Given the description of an element on the screen output the (x, y) to click on. 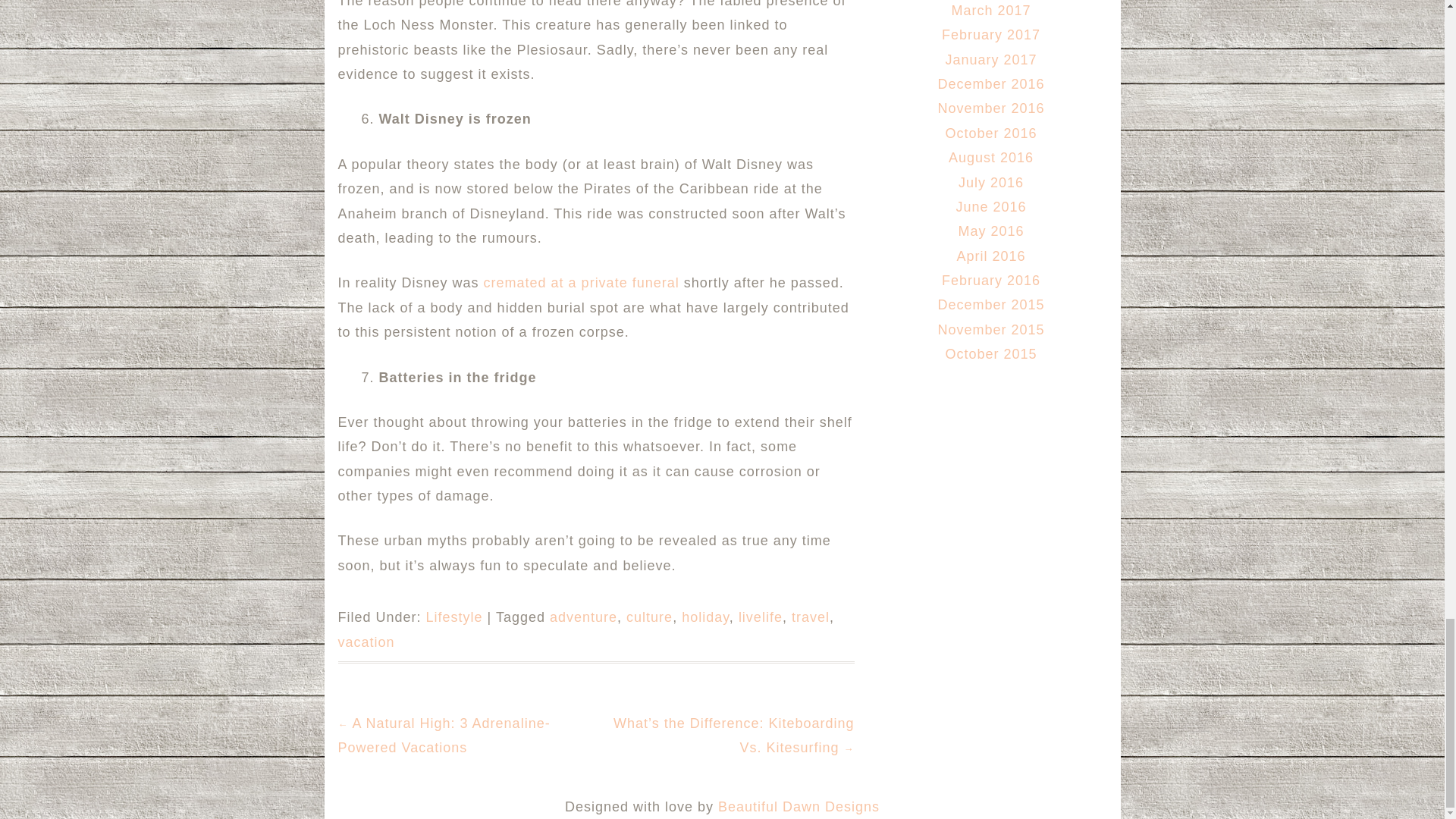
cremated at a private funeral (581, 282)
adventure (583, 616)
Lifestyle (454, 616)
travel (810, 616)
vacation (365, 642)
holiday (705, 616)
livelife (760, 616)
Beautiful Dawn Designs (798, 806)
culture (649, 616)
